Given the description of an element on the screen output the (x, y) to click on. 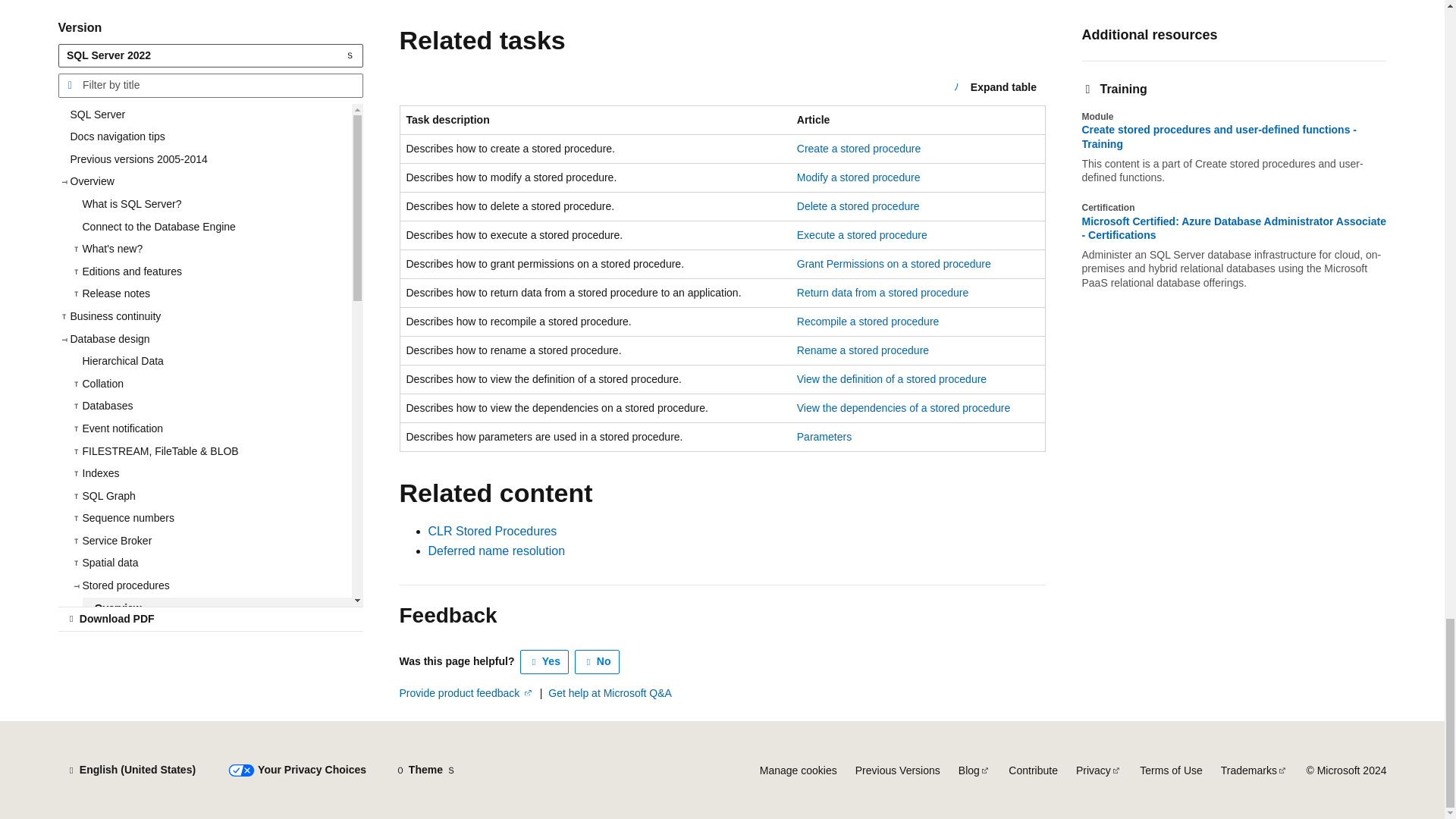
This article is helpful (544, 662)
This article is not helpful (597, 662)
Theme (425, 770)
